Given the description of an element on the screen output the (x, y) to click on. 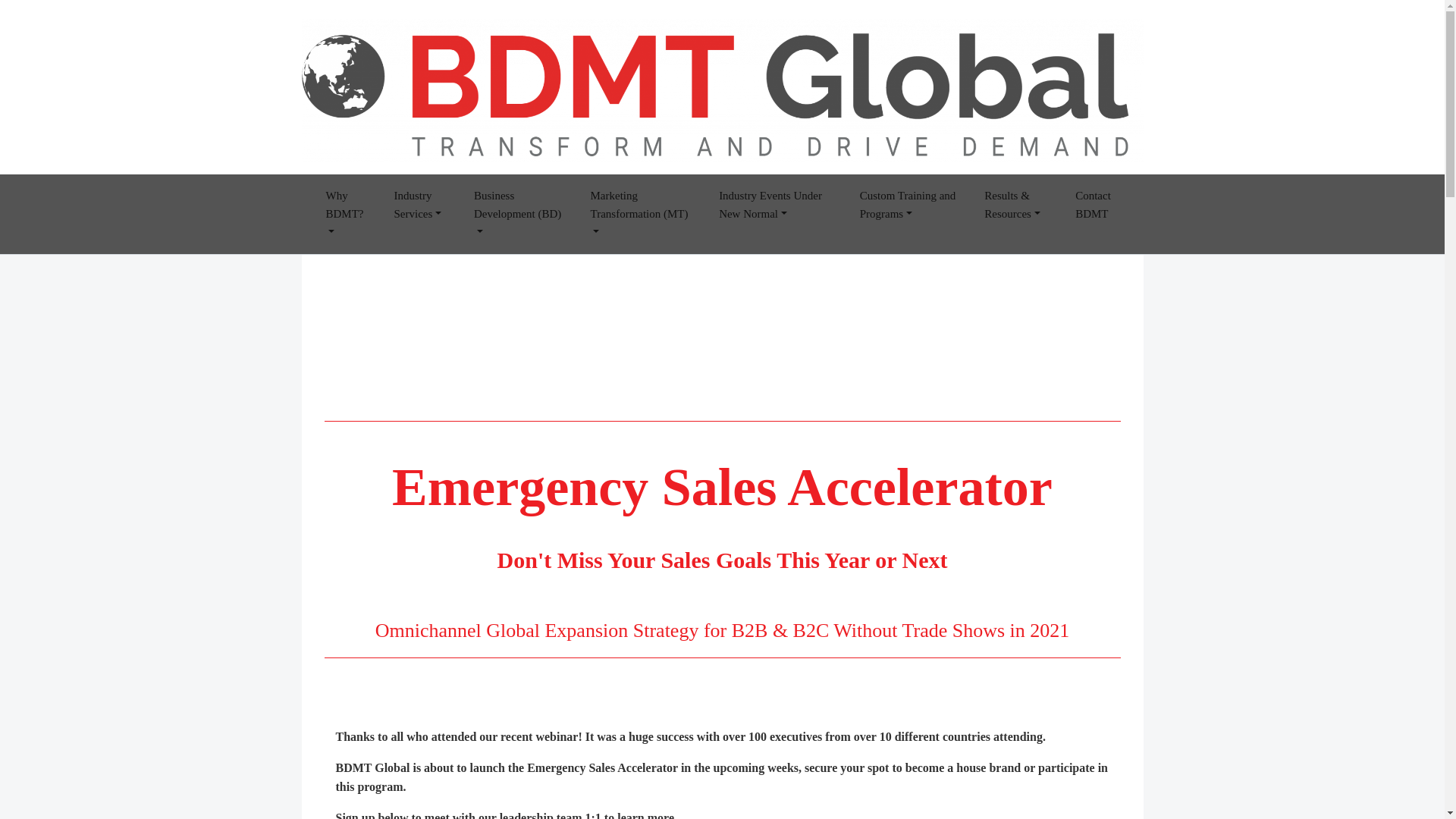
BDMT Global (348, 175)
Industry Services (421, 213)
Industry Events Under New Normal (776, 213)
Custom Training and Programs (909, 213)
Industry Services (421, 213)
Skip to content (54, 20)
